Given the description of an element on the screen output the (x, y) to click on. 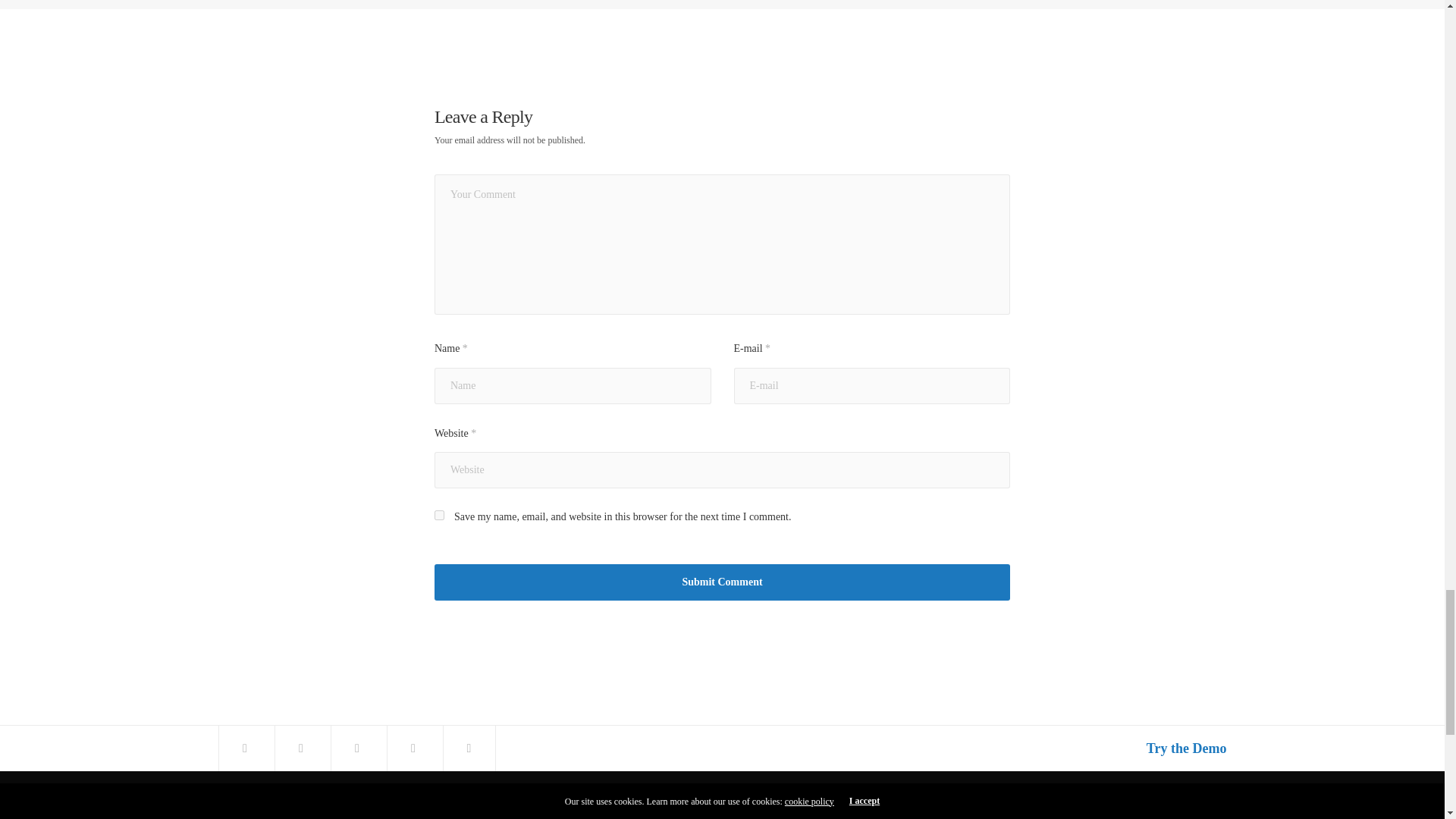
Submit Comment (721, 582)
yes (438, 515)
